Given the description of an element on the screen output the (x, y) to click on. 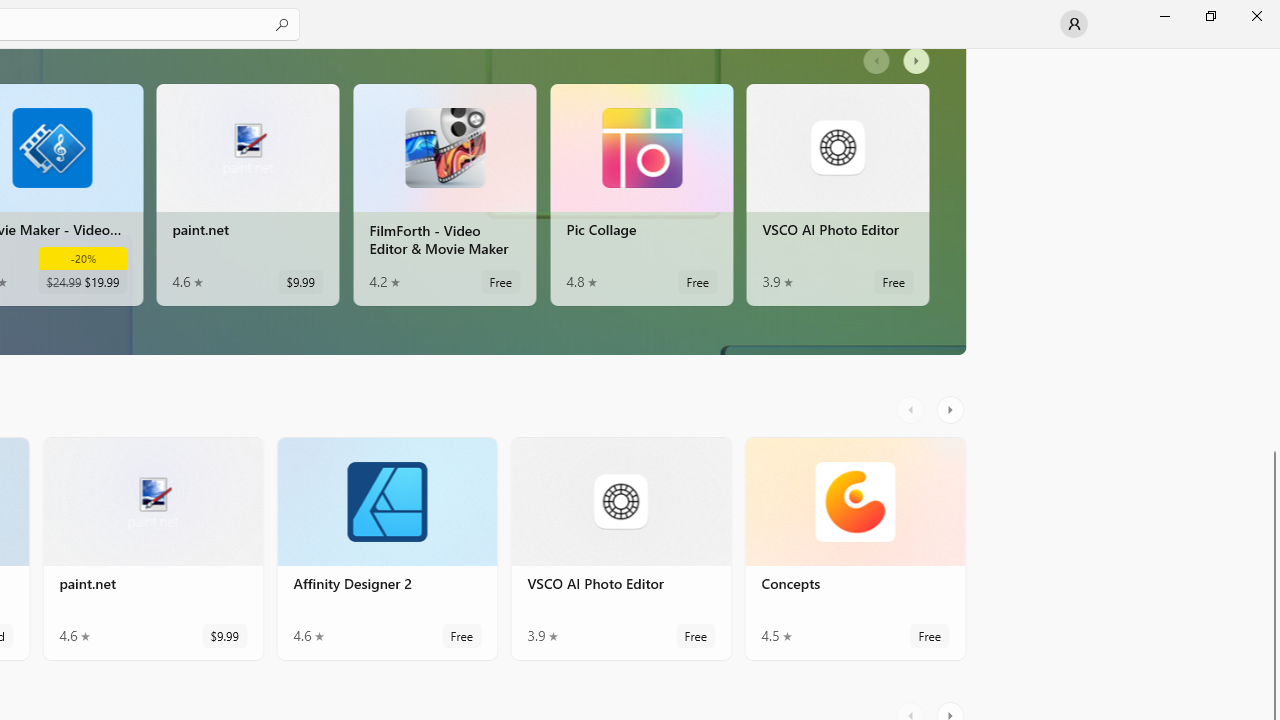
Vertical Large Decrease (1272, 254)
Restore Microsoft Store (1210, 15)
Close Microsoft Store (1256, 15)
User profile (1073, 24)
Concepts. Average rating of 4.5 out of five stars. Free   (854, 548)
Pic Collage. Average rating of 4.8 out of five stars. Free   (641, 194)
Vertical Small Decrease (1272, 55)
Minimize Microsoft Store (1164, 15)
AutomationID: RightScrollButton (952, 409)
AutomationID: LeftScrollButton (913, 409)
